Given the description of an element on the screen output the (x, y) to click on. 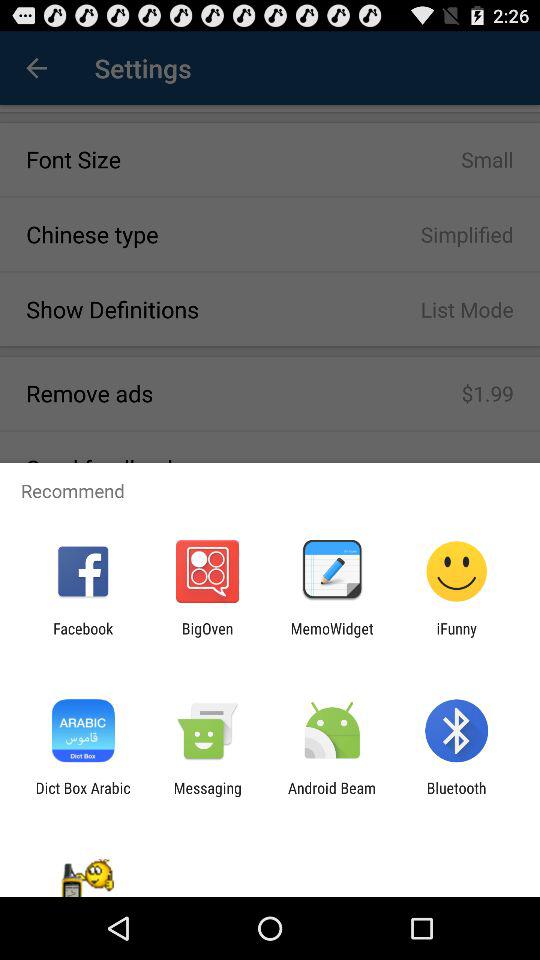
scroll to the messaging app (207, 796)
